Given the description of an element on the screen output the (x, y) to click on. 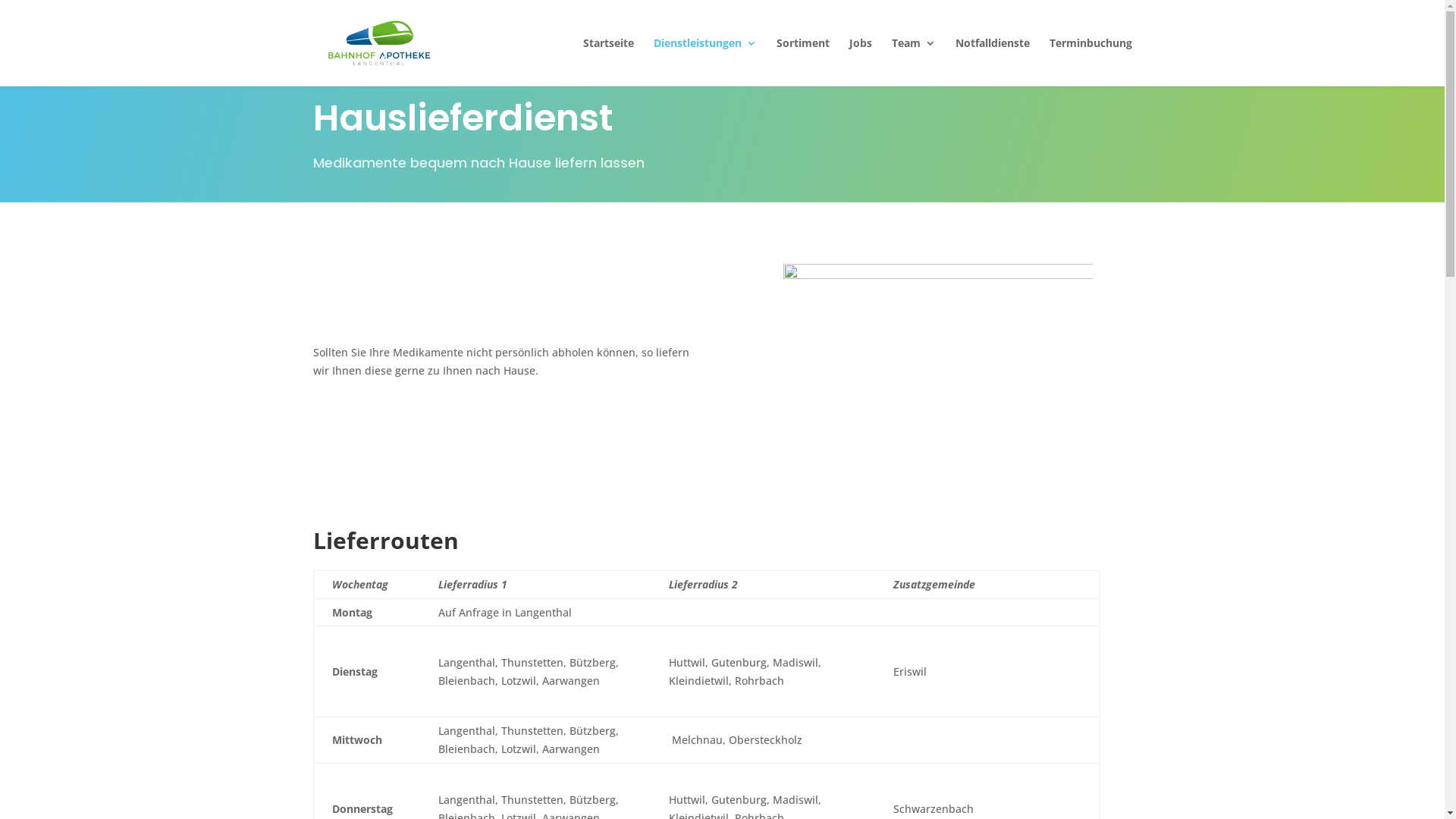
Team Element type: text (913, 61)
Startseite Element type: text (607, 61)
Dienstleistungen Element type: text (704, 61)
Notfalldienste Element type: text (992, 61)
Jobs Element type: text (860, 61)
Sortiment Element type: text (802, 61)
Terminbuchung Element type: text (1090, 61)
